Given the description of an element on the screen output the (x, y) to click on. 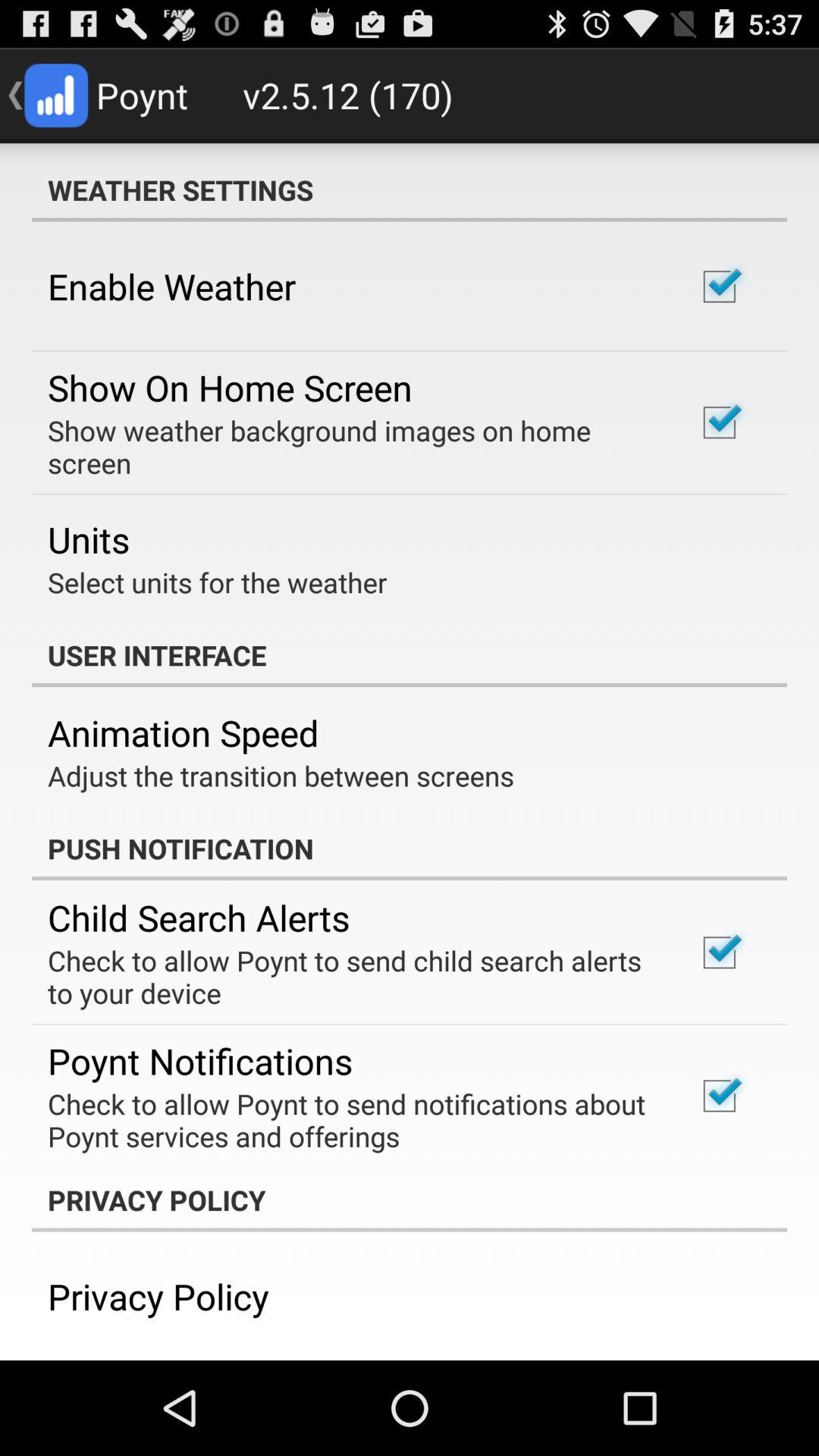
turn on the animation speed app (183, 732)
